Given the description of an element on the screen output the (x, y) to click on. 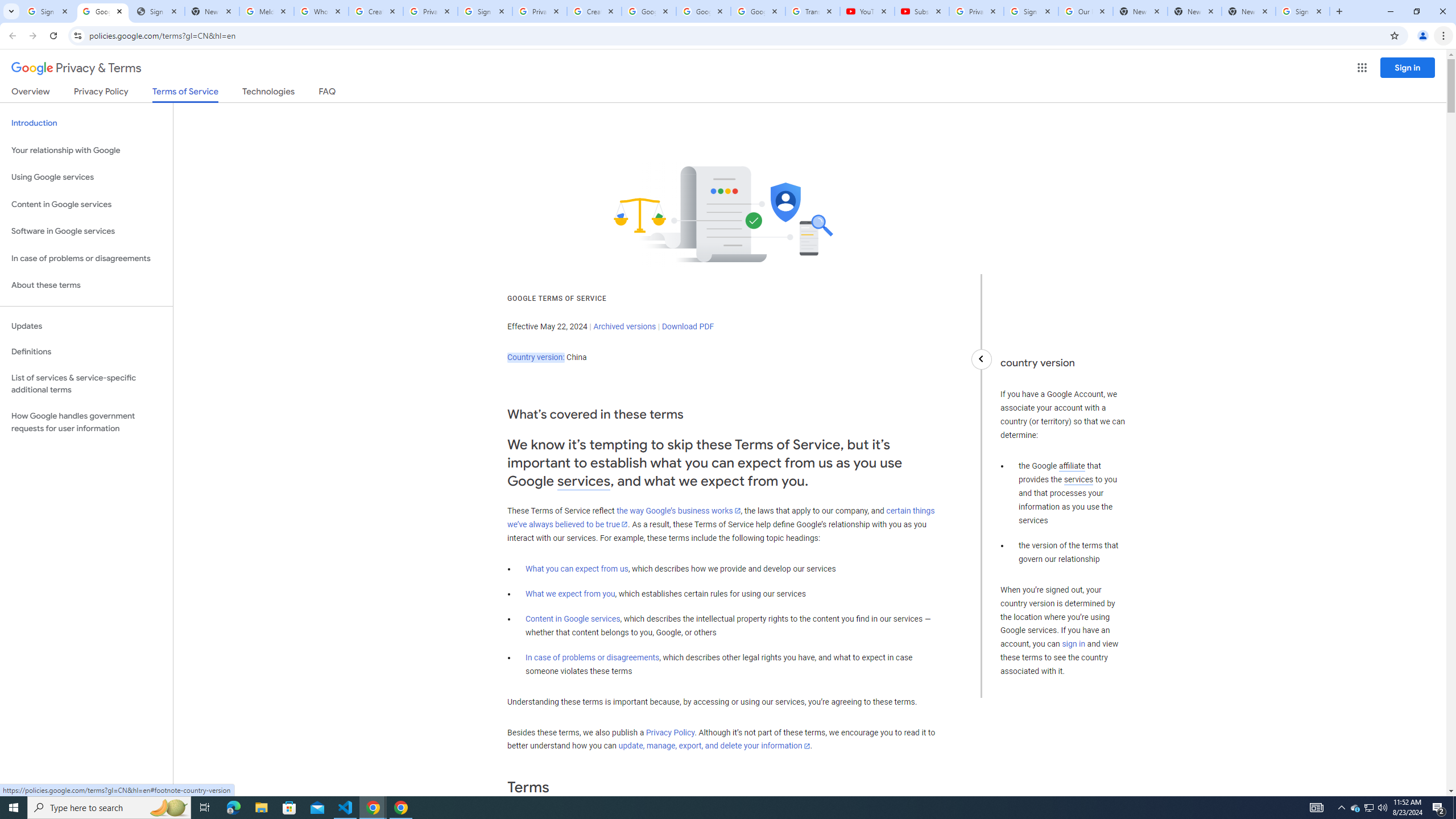
New Tab (1249, 11)
Terms of Service (184, 94)
Software in Google services (86, 230)
services (1077, 479)
Subscriptions - YouTube (921, 11)
Definitions (86, 352)
Create your Google Account (375, 11)
Using Google services (86, 176)
In case of problems or disagreements (592, 657)
Technologies (268, 93)
